Given the description of an element on the screen output the (x, y) to click on. 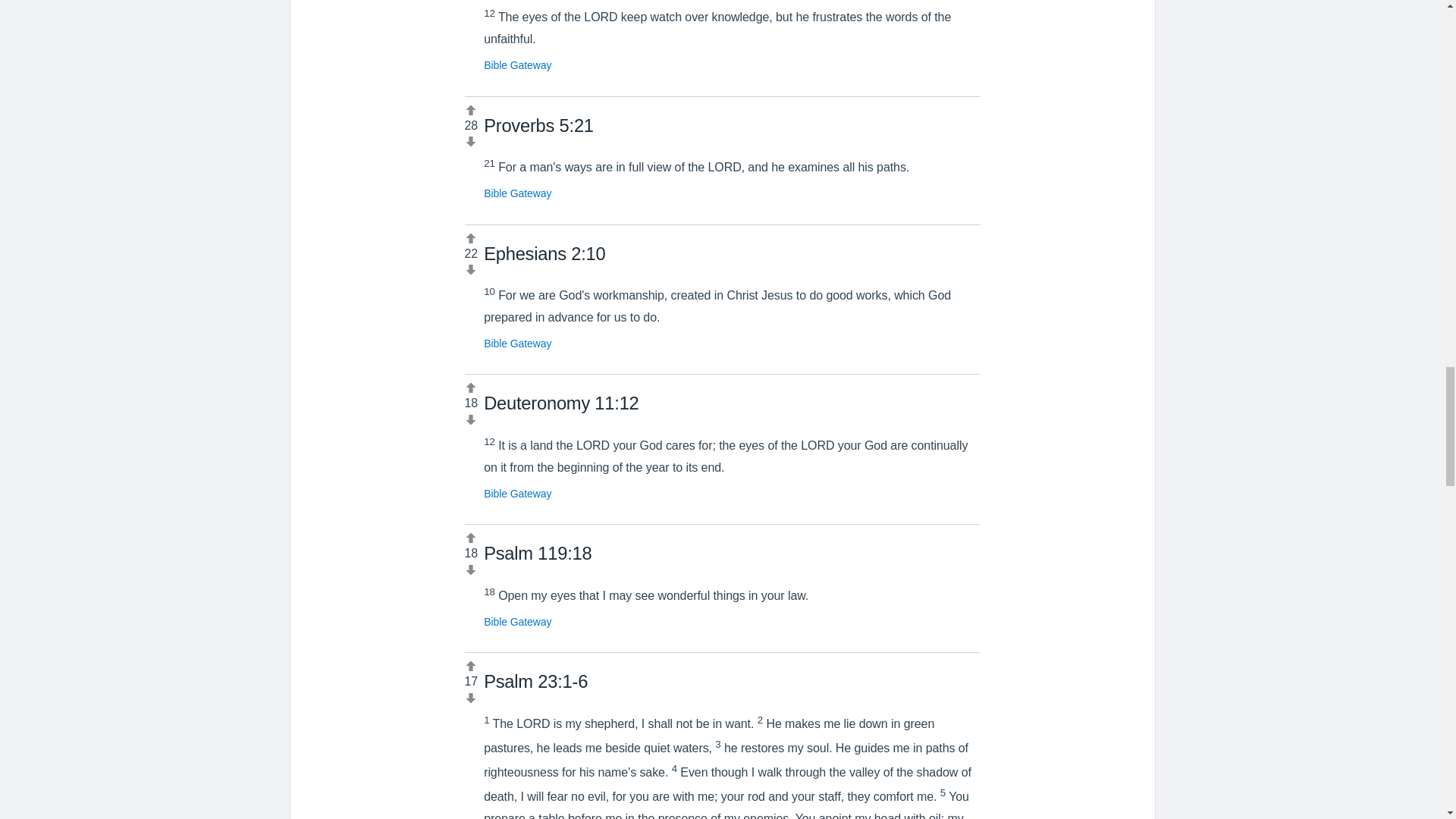
Bible Gateway (517, 193)
Bible Gateway (517, 493)
Bible Gateway (517, 64)
Bible Gateway (517, 343)
Bible Gateway (517, 621)
